Given the description of an element on the screen output the (x, y) to click on. 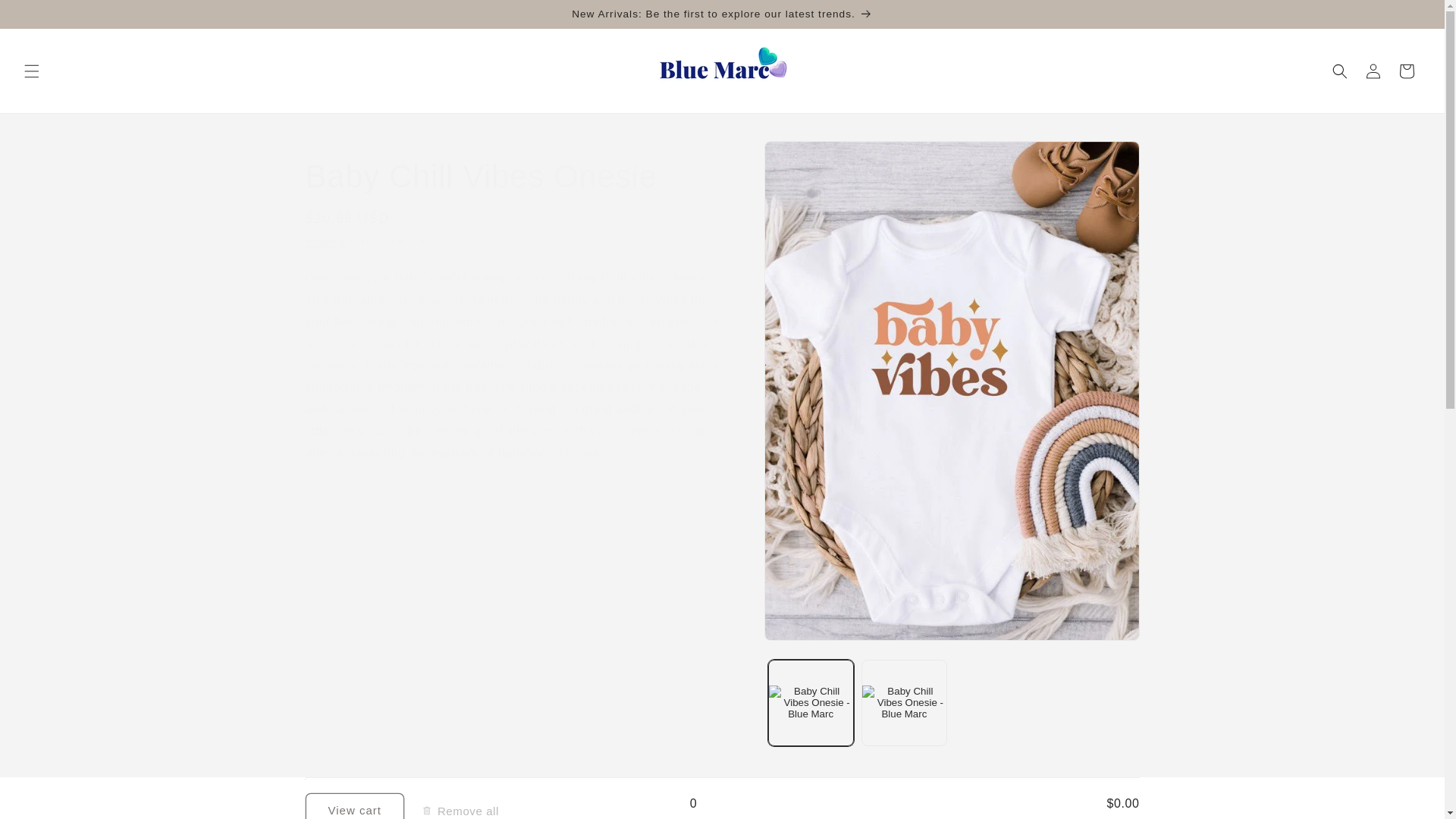
Log in (1373, 70)
Skip to content (45, 17)
New Arrivals: Be the first to explore our latest trends. (722, 14)
Cart (1406, 70)
